Given the description of an element on the screen output the (x, y) to click on. 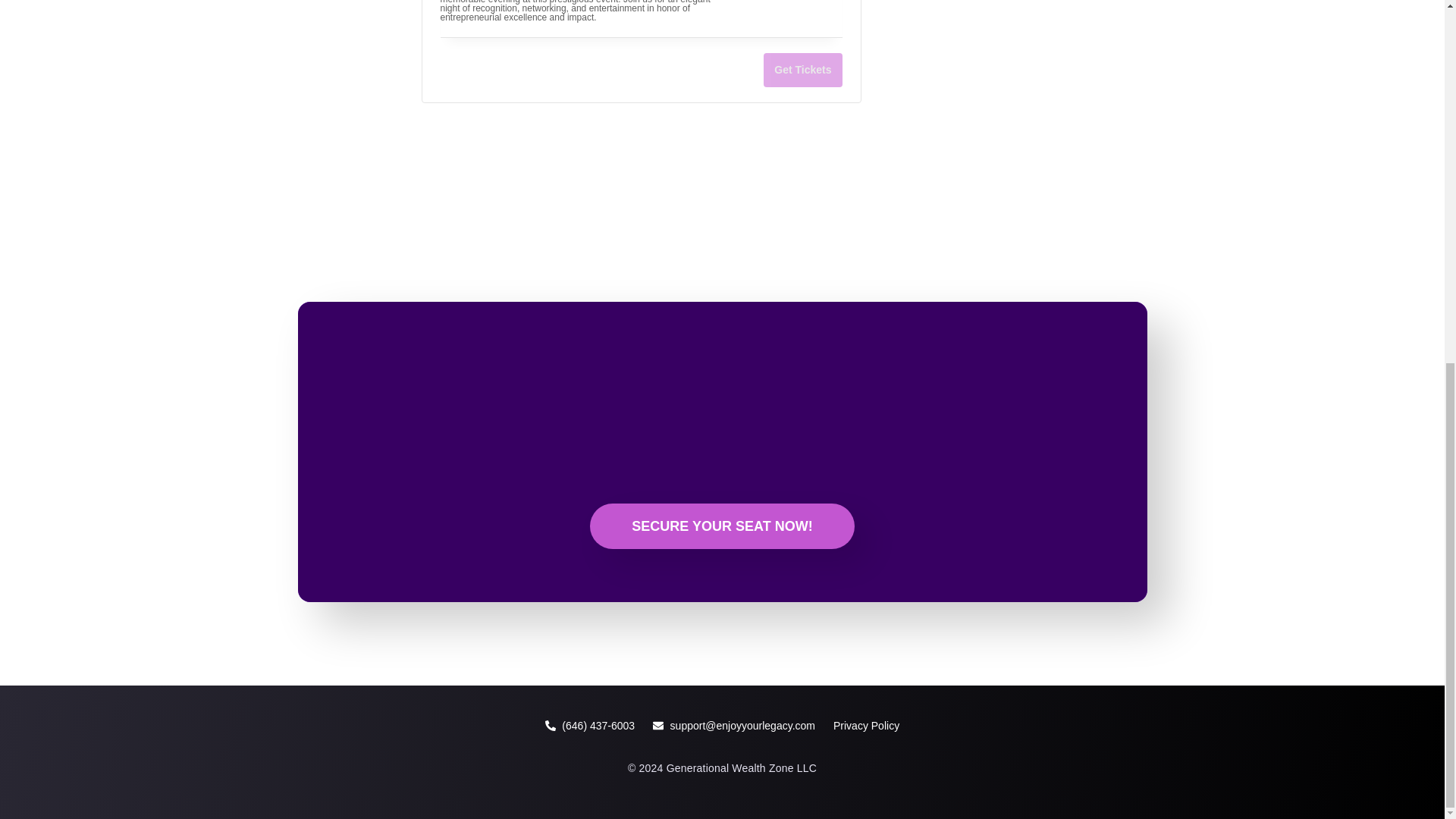
Get Tickets (801, 69)
Privacy Policy (865, 725)
SECURE YOUR SEAT NOW! (721, 525)
